Given the description of an element on the screen output the (x, y) to click on. 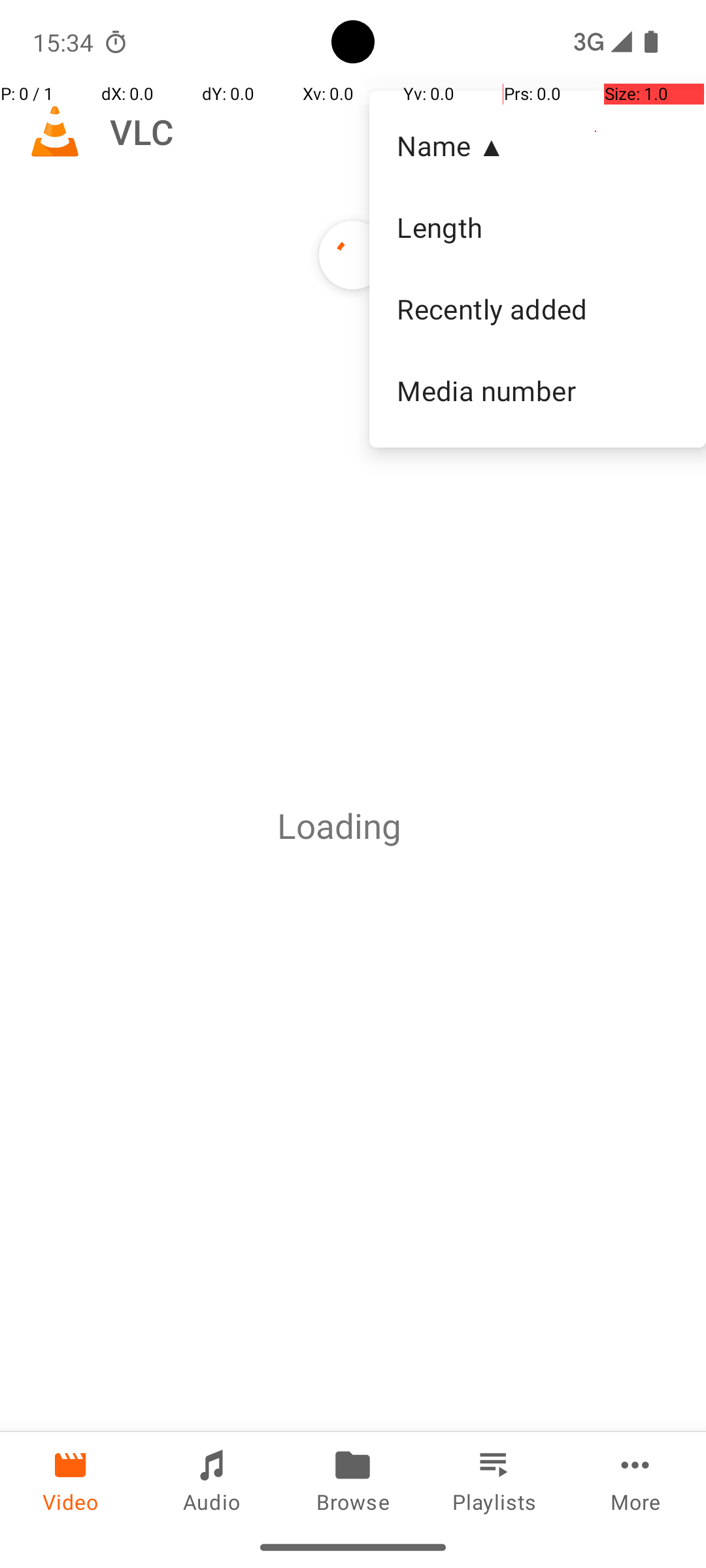
Name. Ascending Element type: android.widget.LinearLayout (537, 145)
Length Element type: android.widget.LinearLayout (537, 227)
Recently added Element type: android.widget.LinearLayout (537, 308)
Name ▲ Element type: android.widget.TextView (537, 145)
Media number Element type: android.widget.TextView (537, 389)
